Given the description of an element on the screen output the (x, y) to click on. 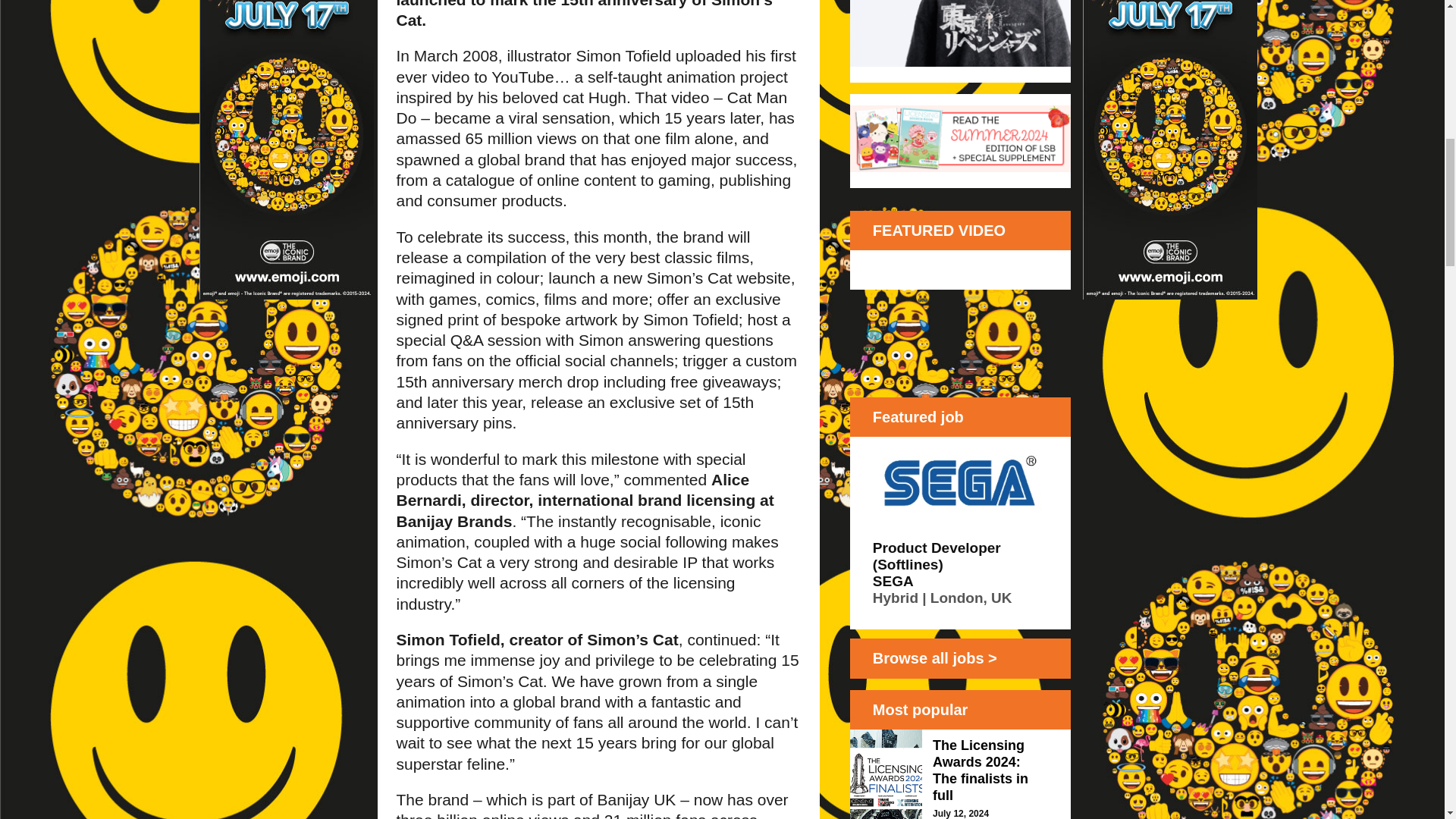
YouTube video player (960, 312)
